Given the description of an element on the screen output the (x, y) to click on. 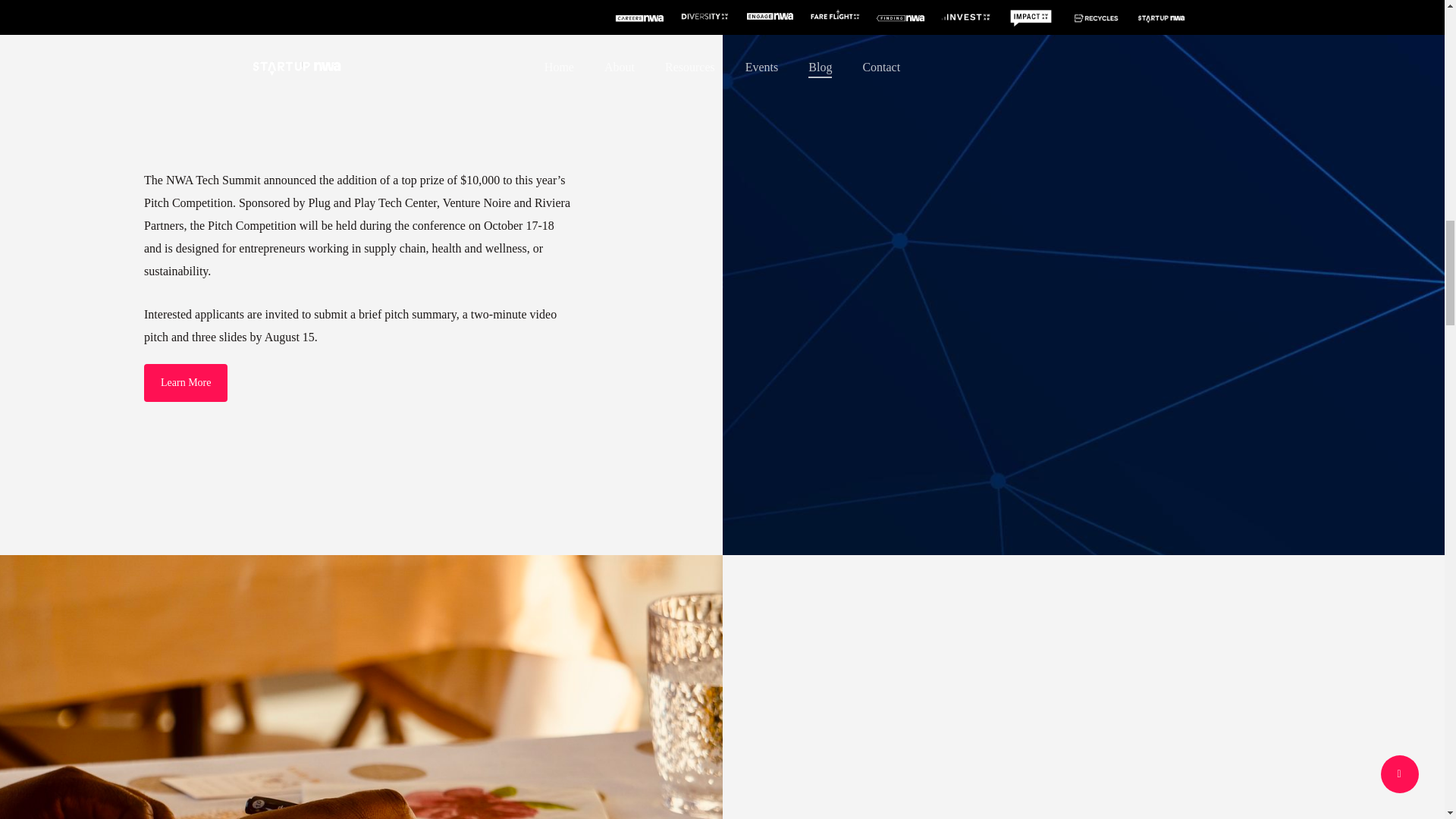
Learn More (185, 382)
